Given the description of an element on the screen output the (x, y) to click on. 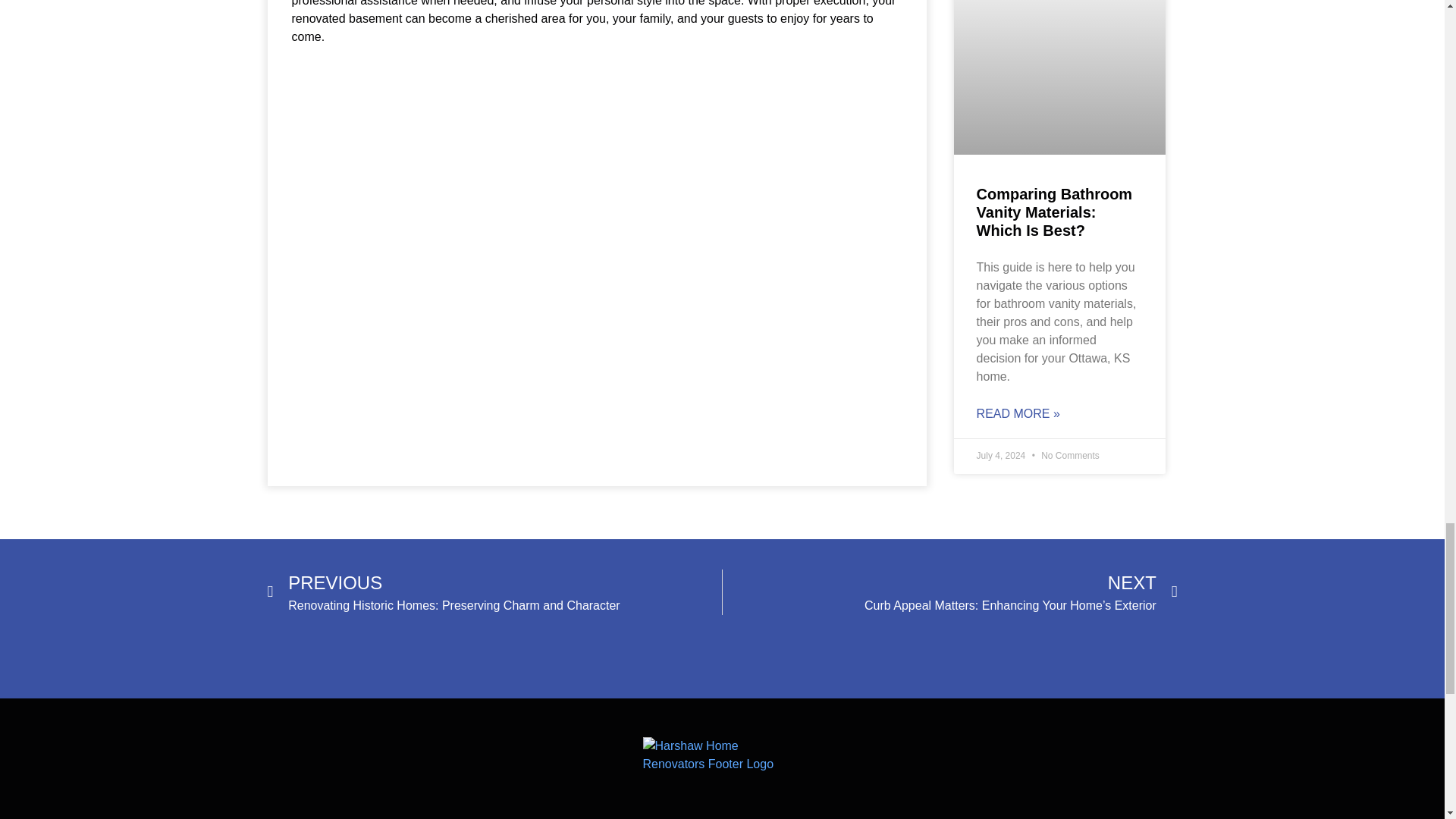
Harshaw Home Renovators Footer Logo (722, 778)
